Given the description of an element on the screen output the (x, y) to click on. 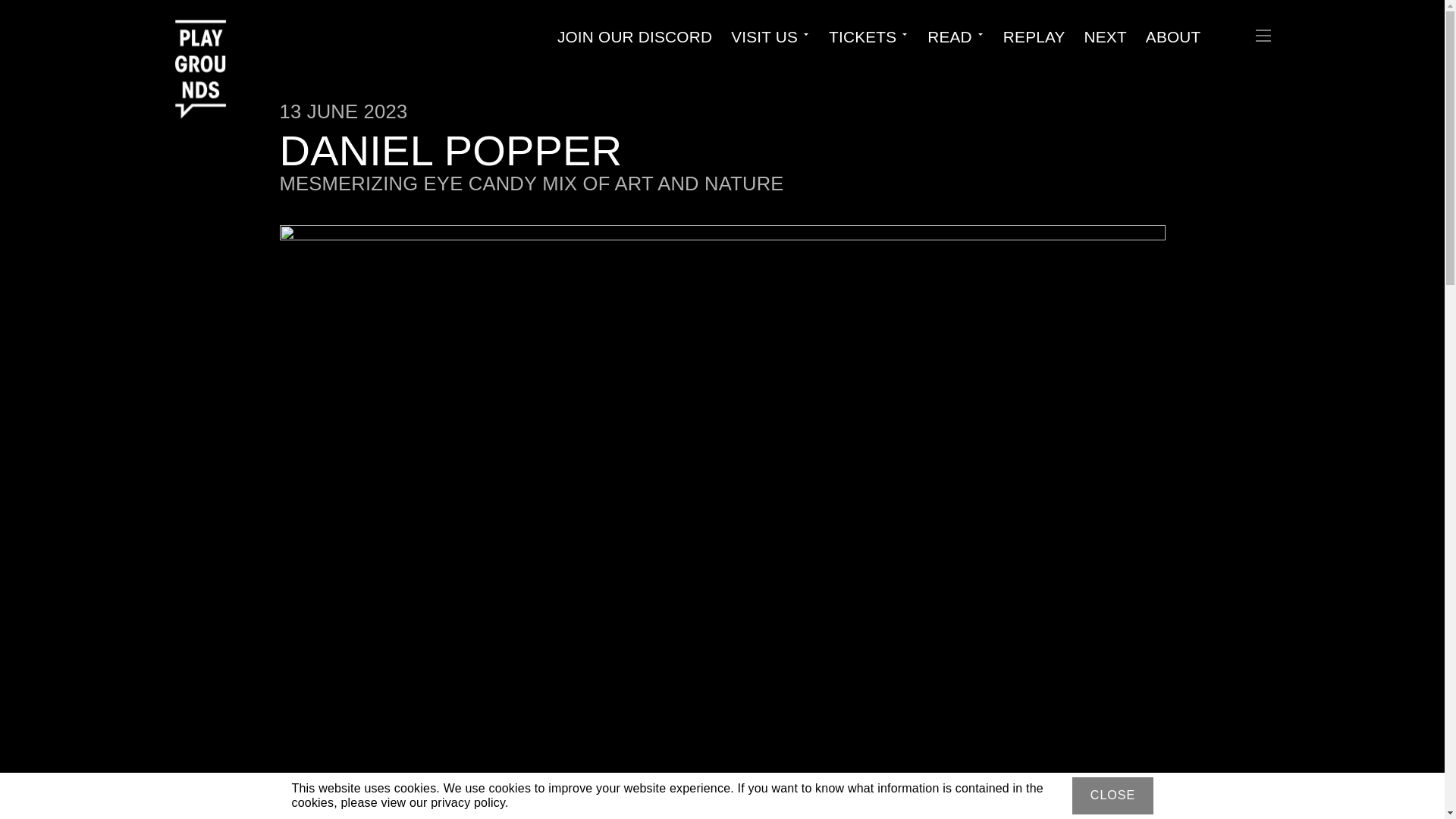
Playgrounds logo (206, 44)
REPLAY (1034, 36)
NEXT (1105, 36)
JOIN OUR DISCORD (634, 36)
TICKETS (862, 36)
VISIT US (763, 36)
ABOUT (1173, 36)
Playgrounds logo (199, 50)
READ (949, 36)
